Given the description of an element on the screen output the (x, y) to click on. 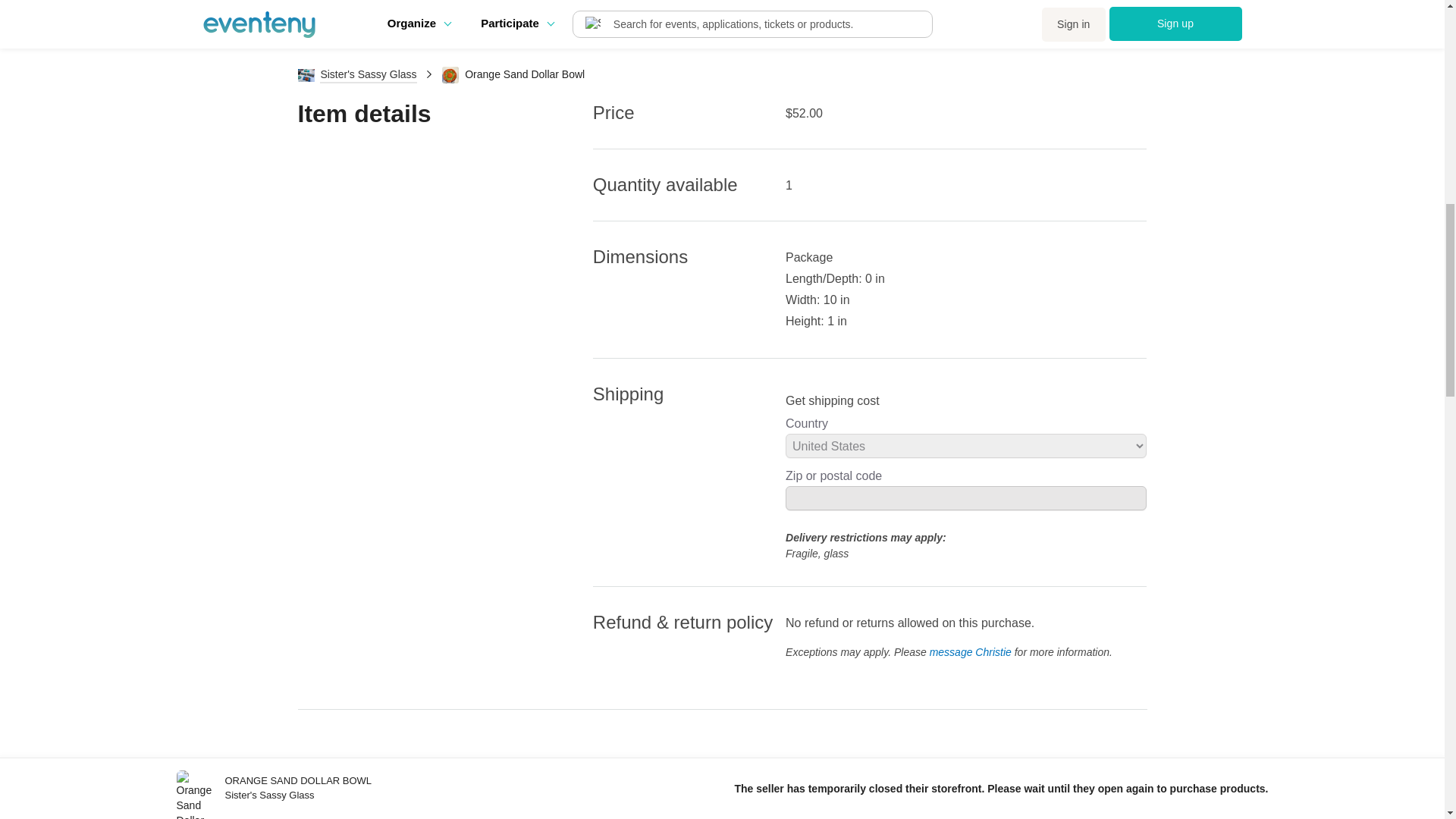
Learn more about Sister's Sassy Glass (921, 788)
Learn more about Christie (638, 788)
Orange Sand Dollar Bowl (194, 12)
